Given the description of an element on the screen output the (x, y) to click on. 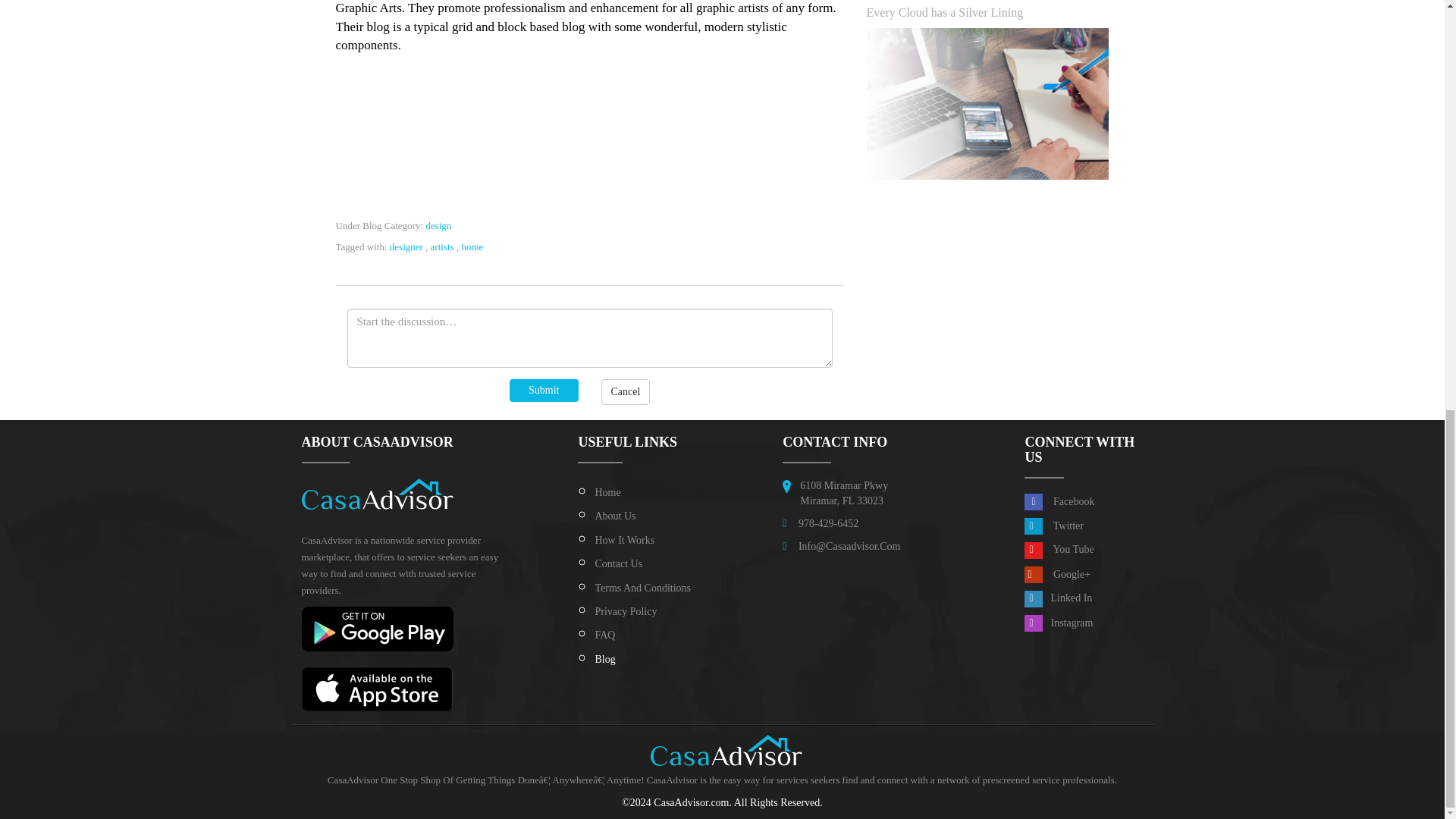
designer (406, 246)
Terms And Conditions (642, 587)
artists (442, 246)
design (438, 225)
Submit (543, 390)
How It Works (623, 540)
Contact Us (618, 563)
About Us (614, 515)
Blog (604, 659)
Every Cloud has a Silver Lining (944, 11)
home (472, 246)
FAQ (604, 634)
Cancel (624, 391)
Privacy Policy (625, 611)
